Given the description of an element on the screen output the (x, y) to click on. 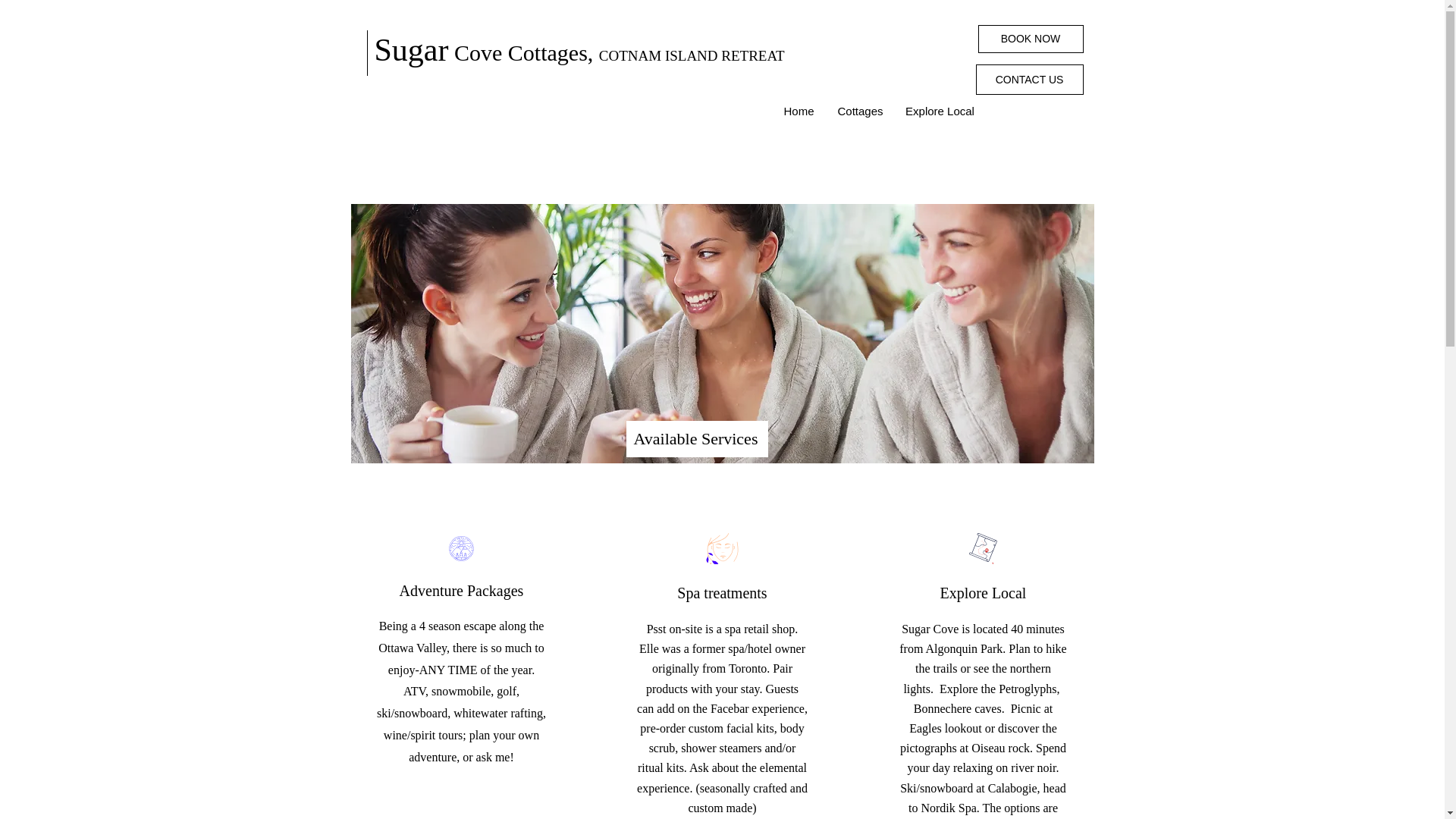
BOOK NOW (1030, 39)
Cove Cottages, (523, 52)
CONTACT US (1029, 79)
Home (799, 110)
Sugar (411, 49)
COTNAM ISLAND RETREAT (691, 55)
Cottages (860, 110)
Explore Local (939, 110)
